Given the description of an element on the screen output the (x, y) to click on. 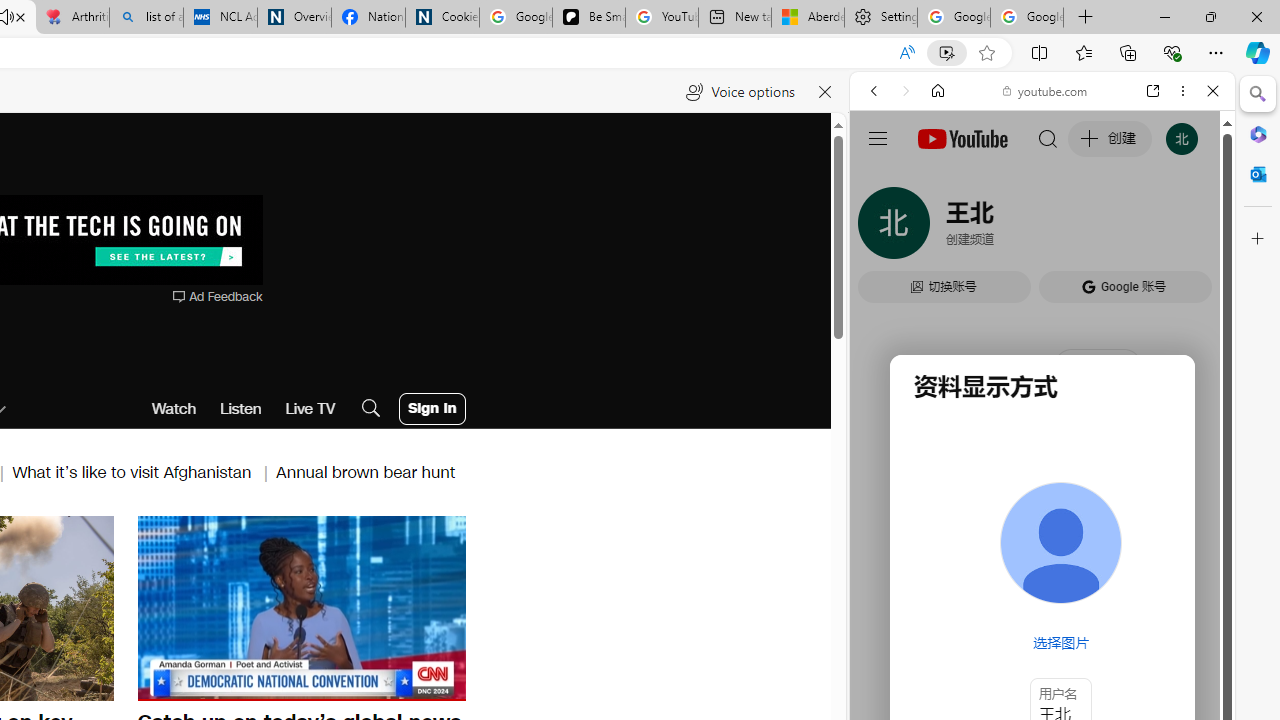
Cookies (441, 17)
Backward 10 seconds (241, 608)
Options (394, 683)
Forward 10 seconds (361, 608)
Mute (164, 683)
